Given the description of an element on the screen output the (x, y) to click on. 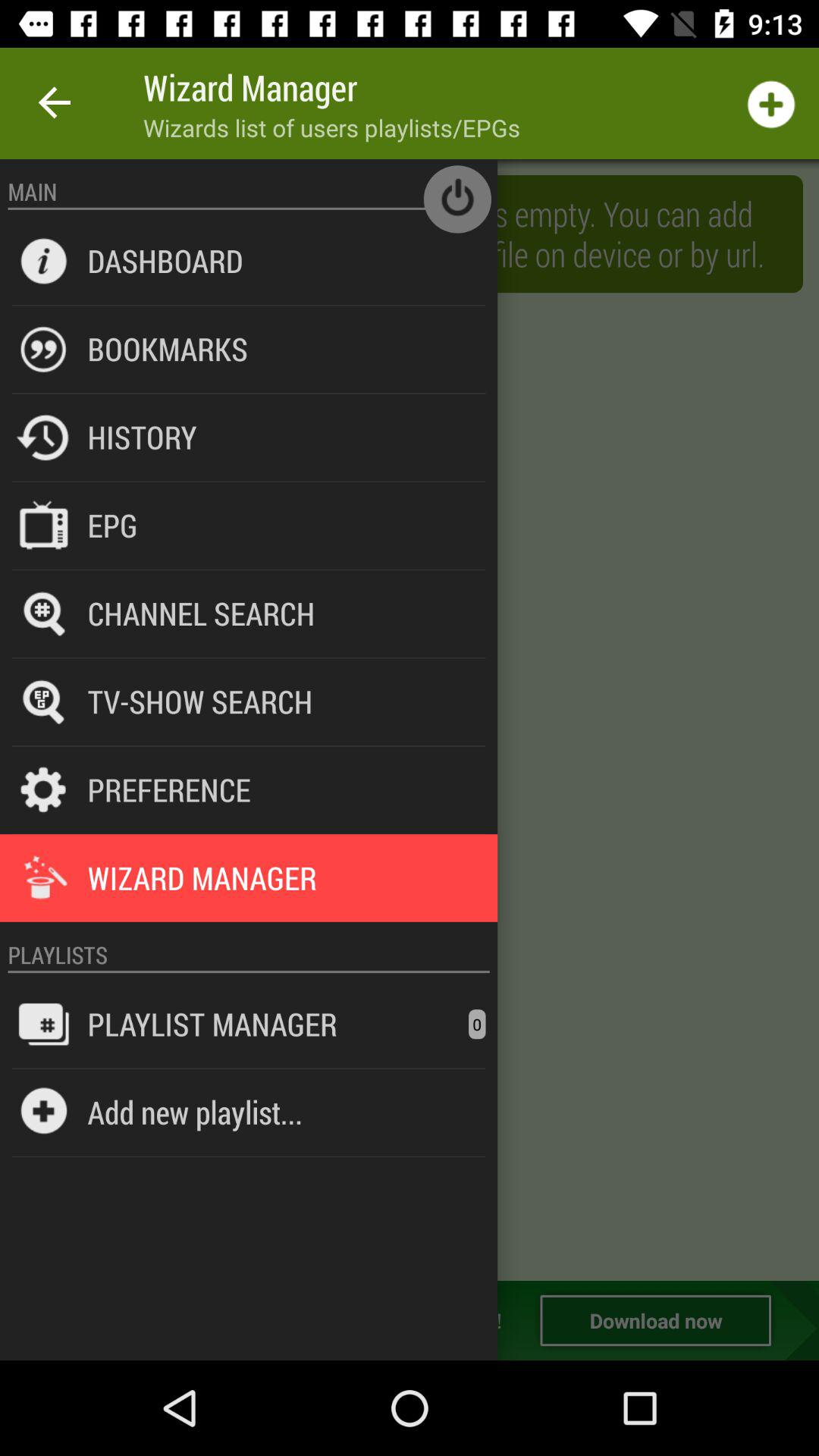
swipe to main item (248, 191)
